Given the description of an element on the screen output the (x, y) to click on. 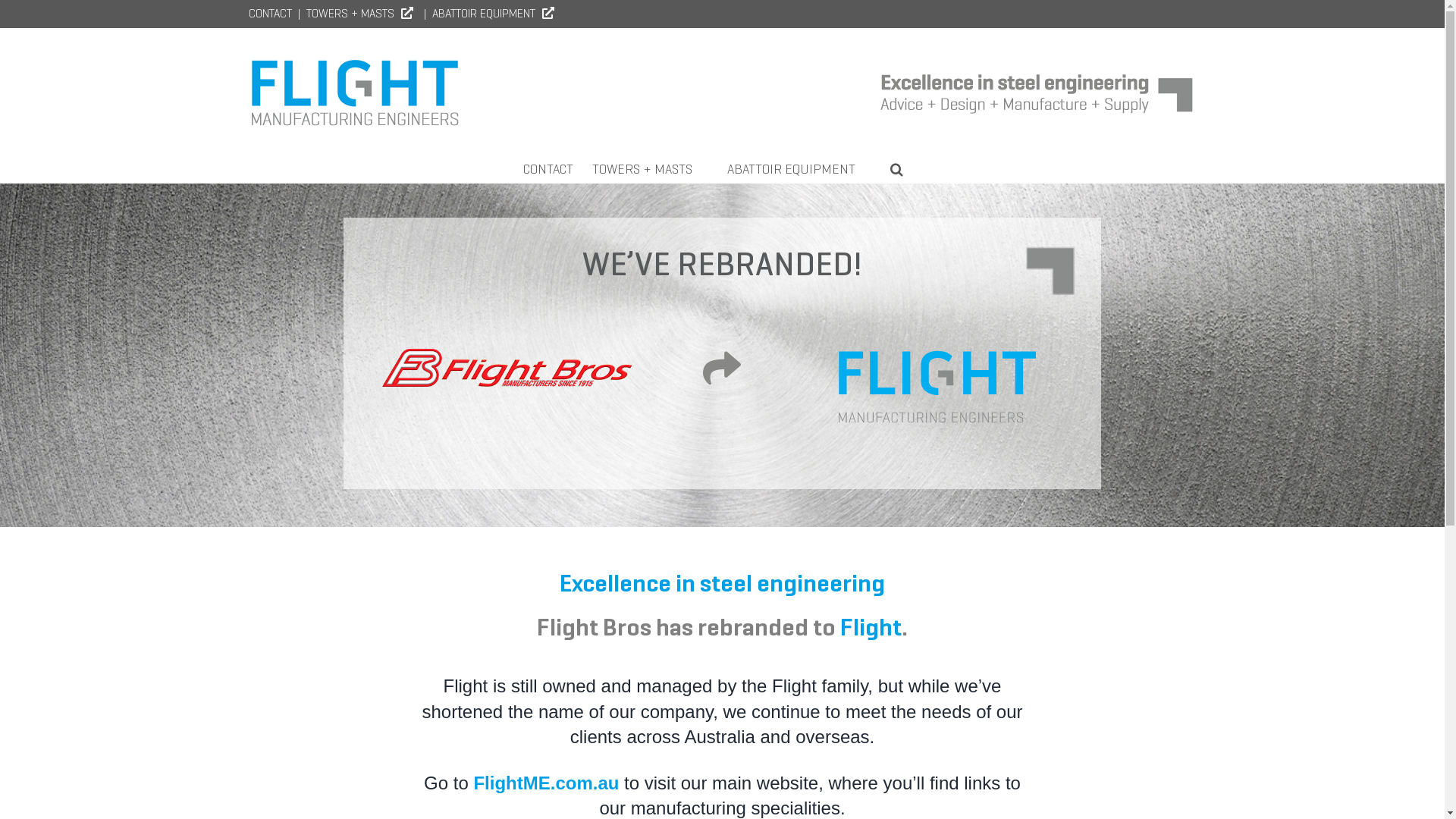
TOWERS + MASTS Element type: text (649, 167)
CONTACT Element type: text (269, 13)
logo-flight-bros Element type: hover (507, 367)
Search Element type: hover (896, 167)
FlightME.com.au Element type: text (545, 782)
ABATTOIR EQUIPMENT Element type: text (496, 13)
ABATTOIR EQUIPMENT Element type: text (798, 167)
TOWERS + MASTS Element type: text (363, 13)
CONTACT Element type: text (548, 167)
